Given the description of an element on the screen output the (x, y) to click on. 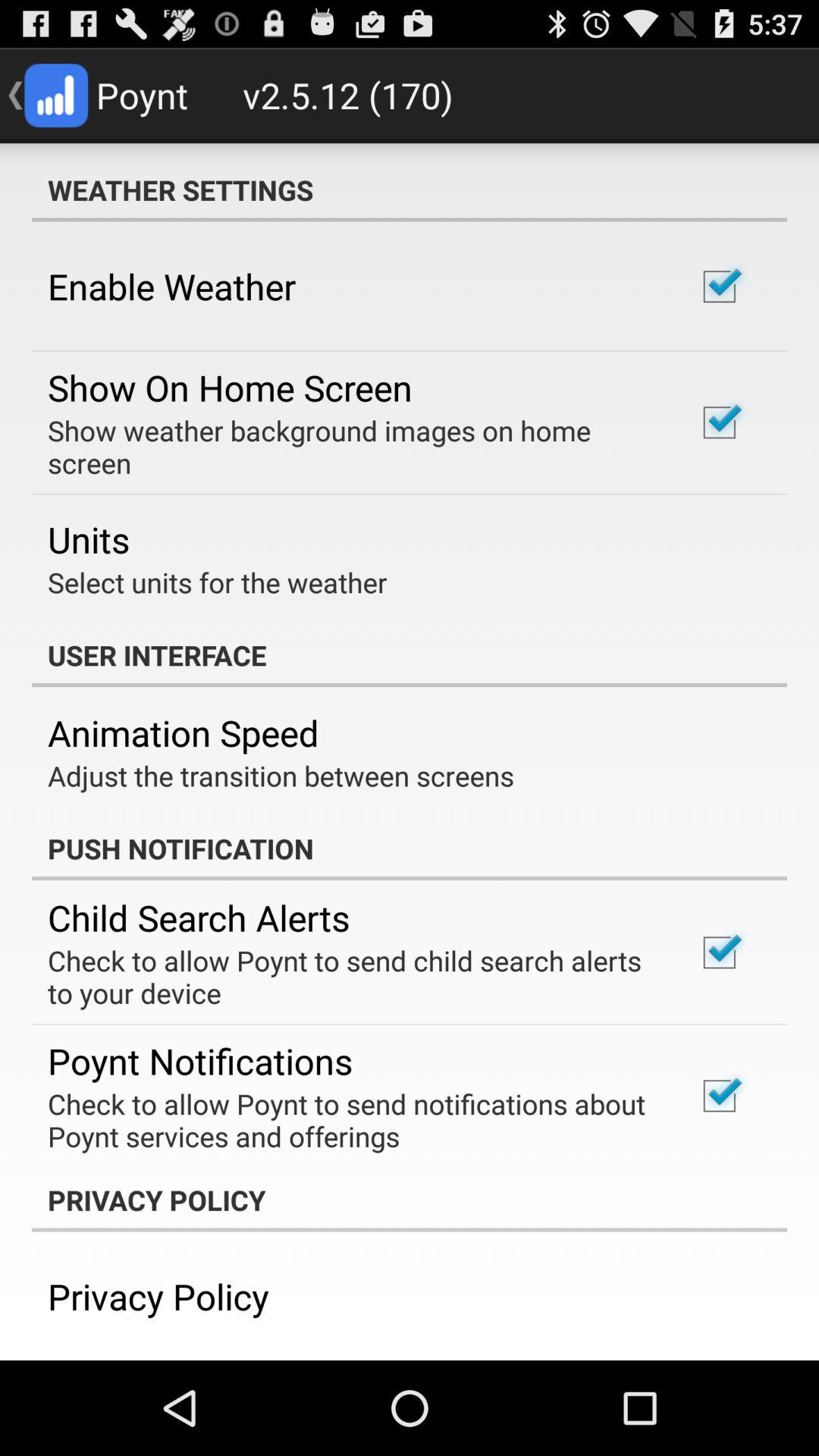
click select units for app (217, 582)
